Given the description of an element on the screen output the (x, y) to click on. 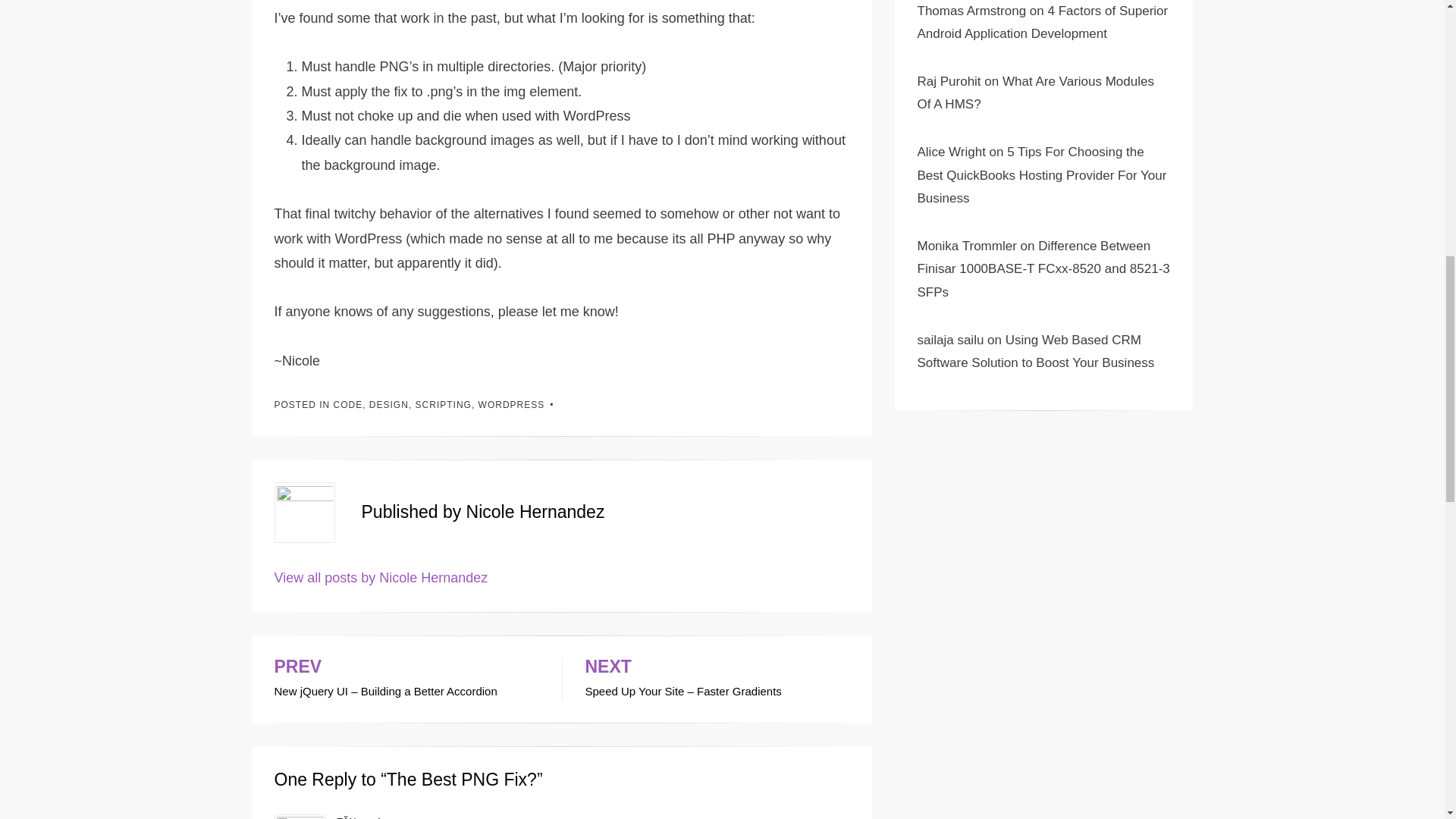
Monika Trommler (966, 246)
CODE (347, 404)
What Are Various Modules Of A HMS? (1035, 93)
SCRIPTING (442, 404)
View all posts by Nicole Hernandez (381, 577)
Alice Wright (951, 151)
sailaja sailu (950, 339)
DESIGN (389, 404)
